Given the description of an element on the screen output the (x, y) to click on. 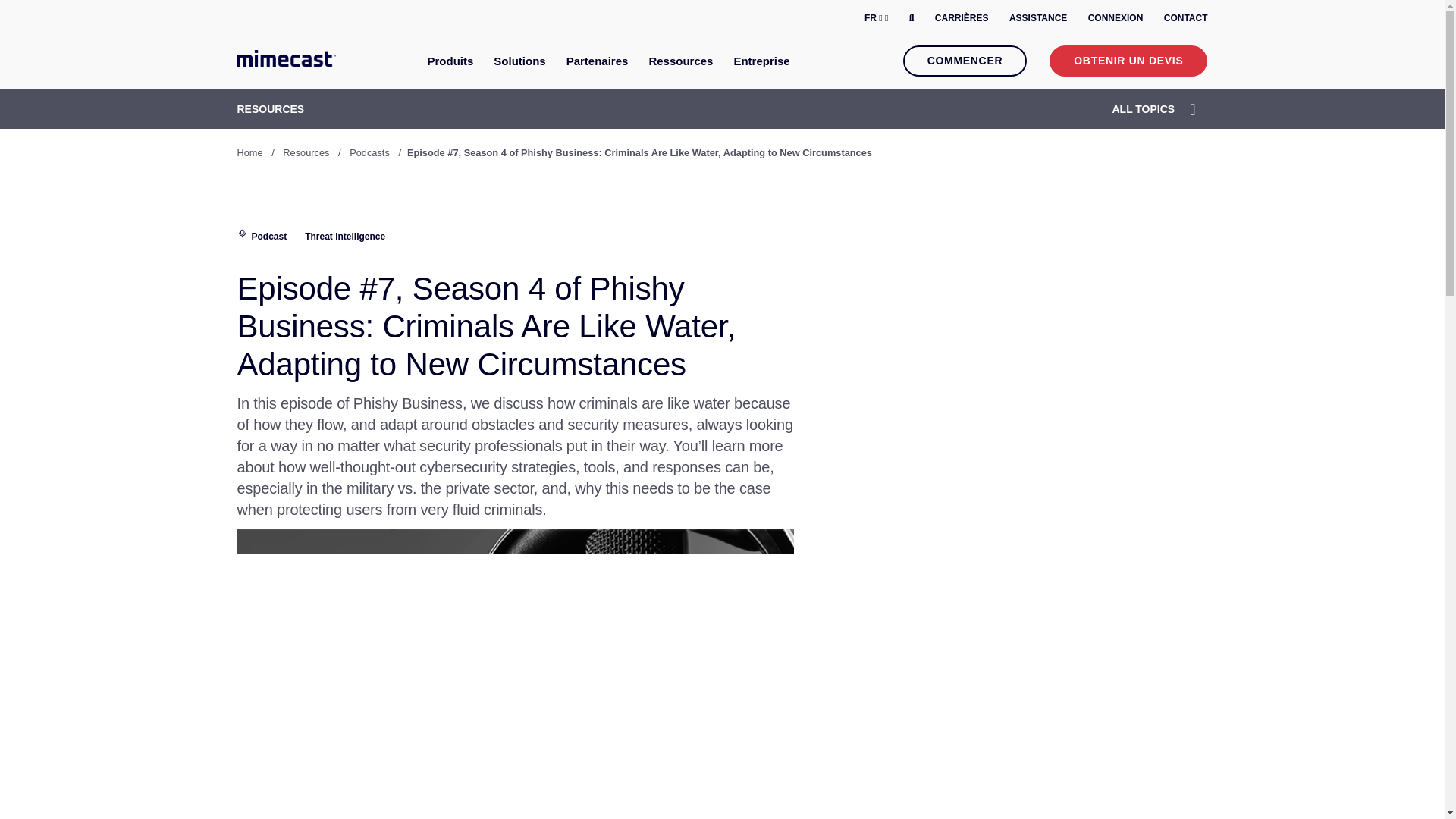
CONNEXION (1114, 18)
ASSISTANCE (1038, 18)
CONTACT (1185, 18)
